Given the description of an element on the screen output the (x, y) to click on. 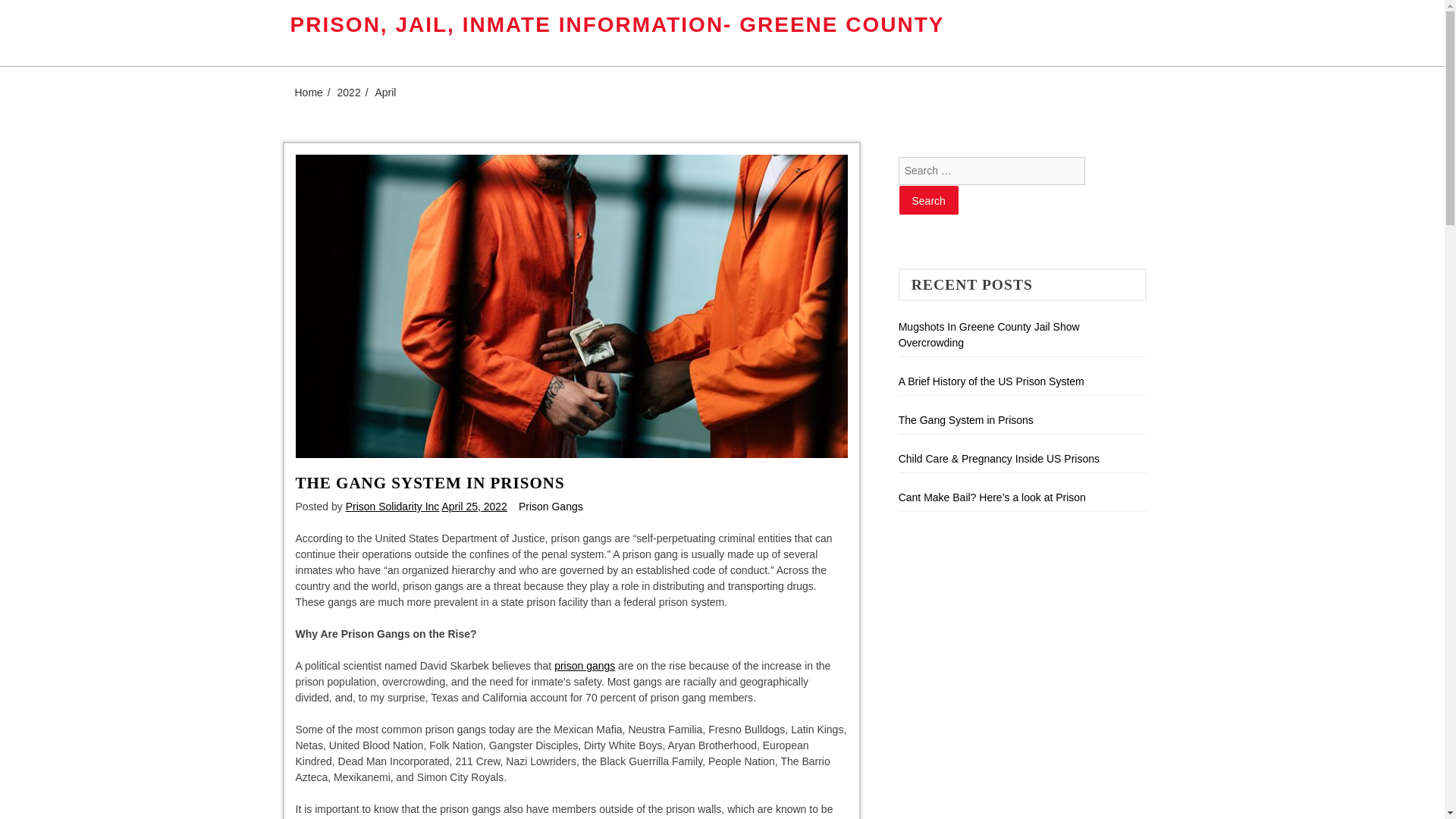
Prison Gangs (550, 506)
THE GANG SYSTEM IN PRISONS (429, 483)
prison gangs (584, 665)
Prison Solidarity Inc (392, 506)
A Brief History of the US Prison System (991, 381)
PRISON, JAIL, INMATE INFORMATION- GREENE COUNTY (616, 24)
Mugshots In Greene County Jail Show Overcrowding (989, 334)
Search (928, 200)
The Gang System in Prisons (965, 419)
April 25, 2022 (473, 506)
Search (928, 200)
2022 (349, 92)
April (384, 92)
Home (307, 92)
Search (928, 200)
